Given the description of an element on the screen output the (x, y) to click on. 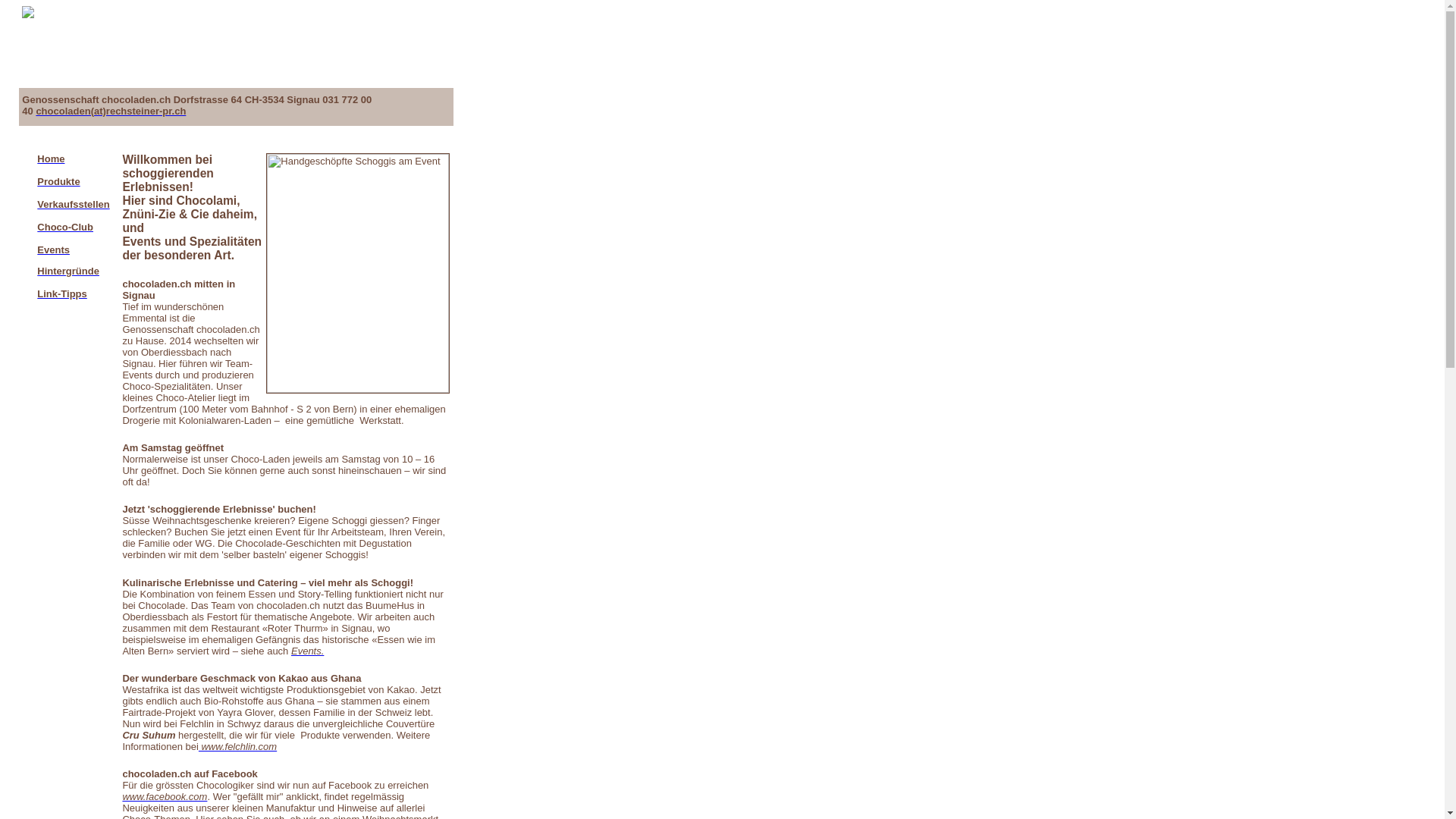
www.felchlin.com Element type: text (237, 746)
www.facebook.com Element type: text (164, 796)
Choco-Club Element type: text (65, 226)
Events Element type: text (53, 255)
Verkaufsstellen Element type: text (73, 204)
chocoladen(at)rechsteiner-pr.ch Element type: text (110, 110)
Home Element type: text (50, 158)
Produkte Element type: text (58, 181)
Link-Tipps Element type: text (61, 293)
Events. Element type: text (307, 650)
